Given the description of an element on the screen output the (x, y) to click on. 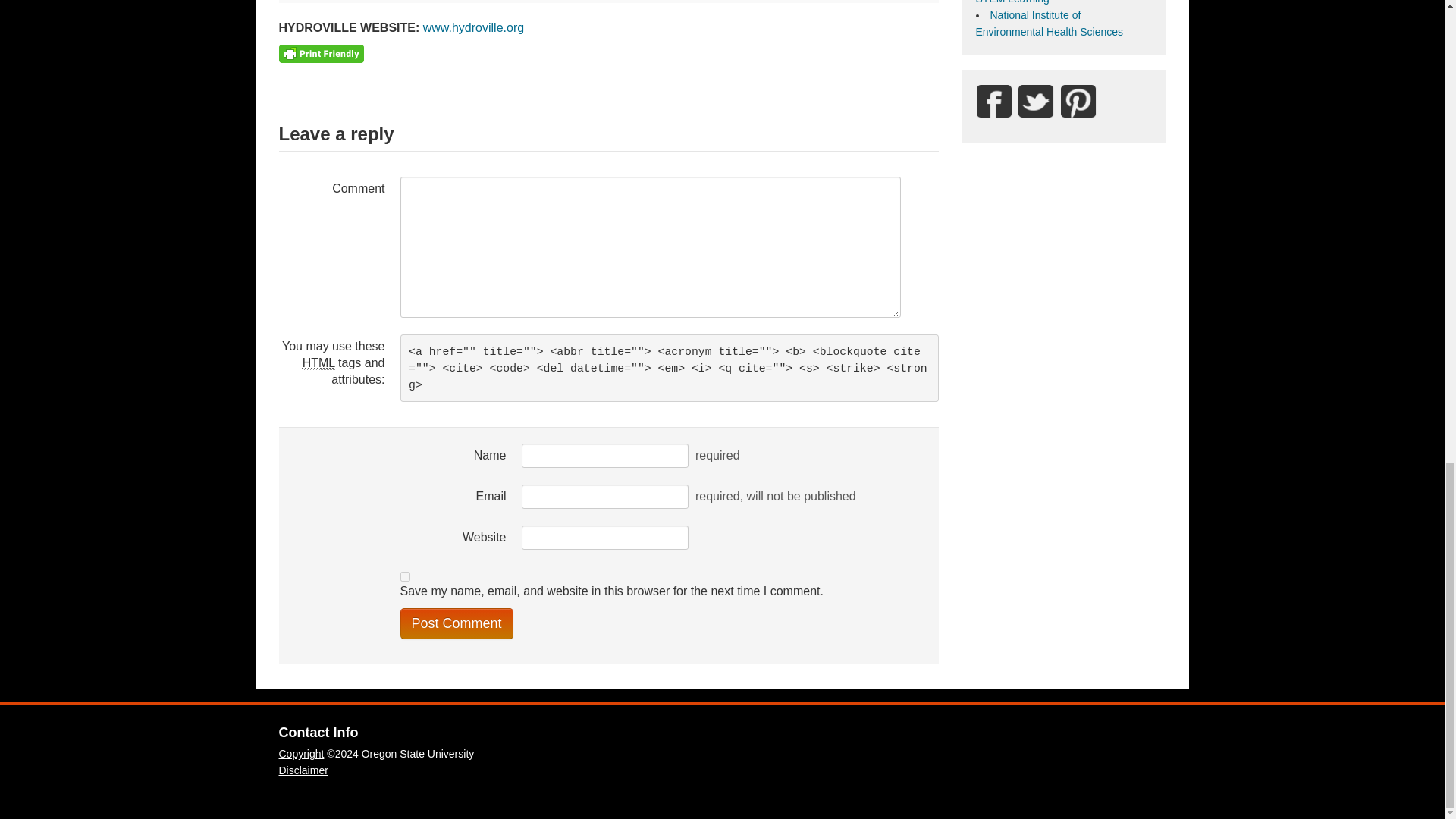
EHSC on Facebook (993, 101)
HyperText Markup Language (318, 363)
www.hydroville.org (473, 27)
Environ Health K-12 on Pinterest (1077, 101)
yes (405, 576)
OSU EHSC on Twitter (1035, 101)
Post Comment (456, 623)
